Given the description of an element on the screen output the (x, y) to click on. 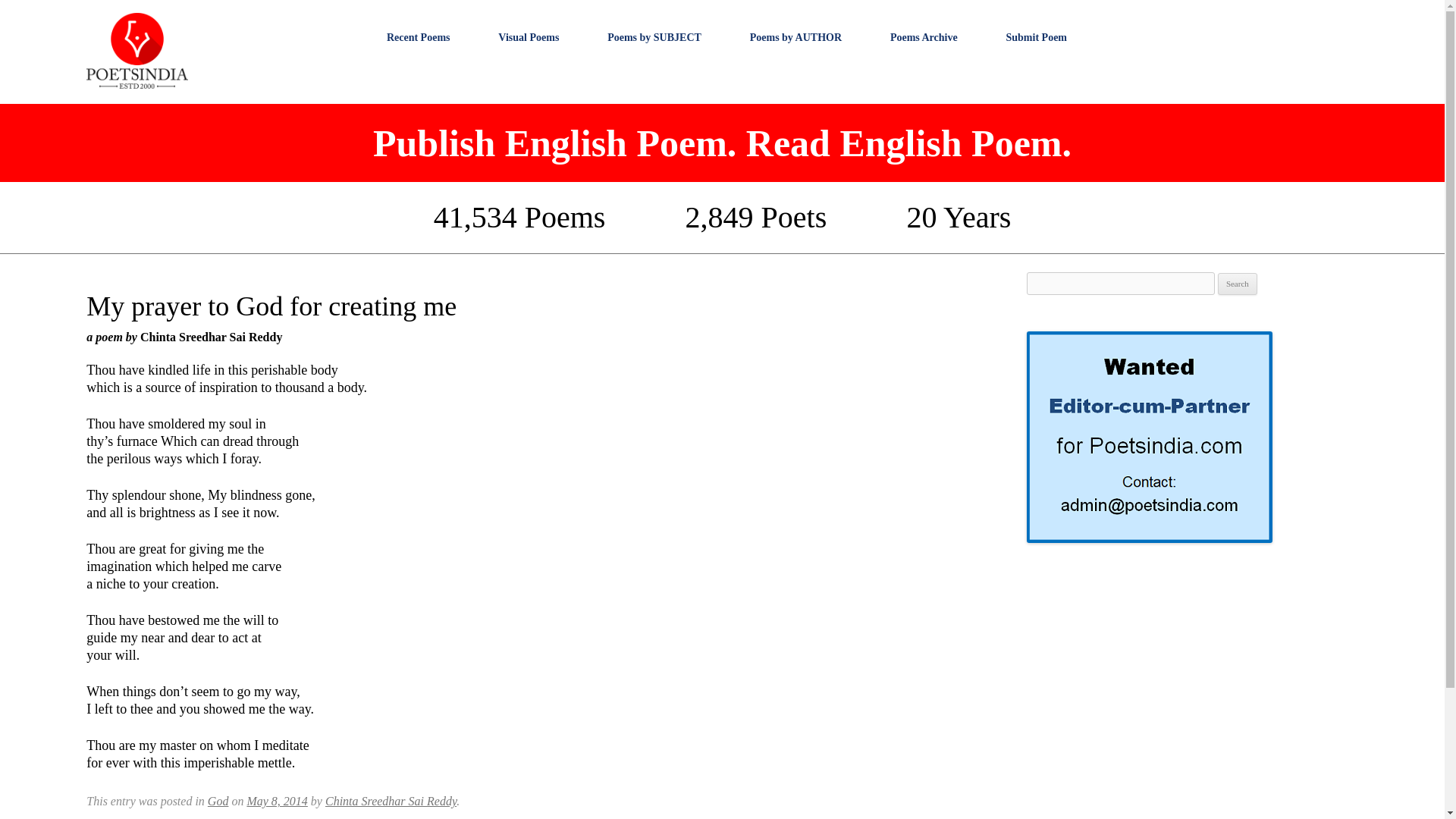
Poems by AUTHOR (795, 37)
Search (1237, 283)
Poems by SUBJECT (654, 37)
4:09 am (276, 800)
View all posts by Chinta Sreedhar Sai Reddy (390, 800)
Recent Poems (418, 37)
Visual Poems (528, 37)
May 8, 2014 (276, 800)
God (218, 800)
Submit Poem (1036, 37)
Search (1237, 283)
Poems Archive (923, 37)
Chinta Sreedhar Sai Reddy (390, 800)
